Given the description of an element on the screen output the (x, y) to click on. 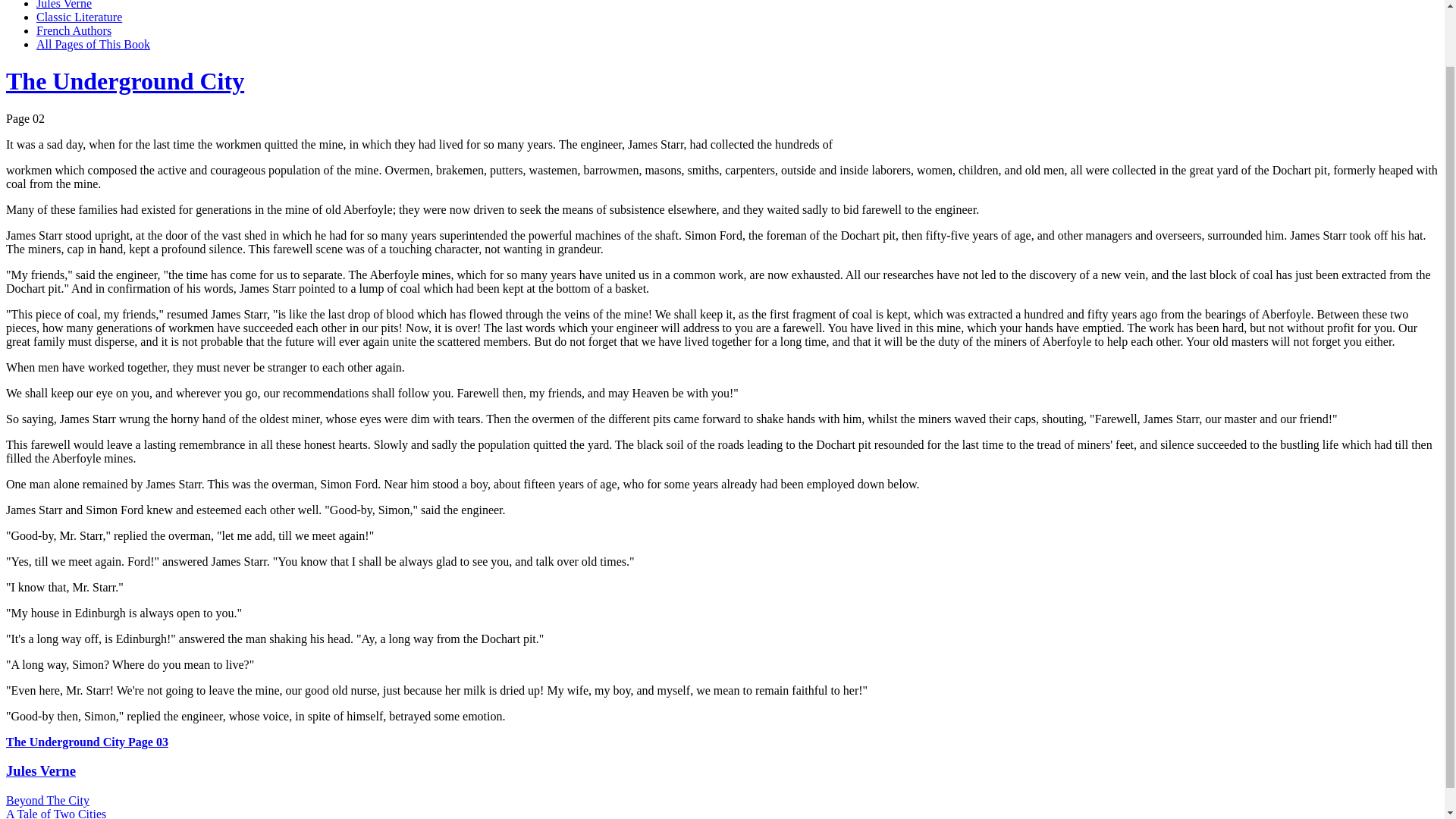
The Underground City (124, 81)
French Authors (74, 30)
The Underground City Page 03 (86, 741)
Classic Literature (79, 16)
All Pages of This Book (92, 43)
Beyond The City (46, 799)
Jules Verne (40, 770)
Jules Verne (63, 4)
